Given the description of an element on the screen output the (x, y) to click on. 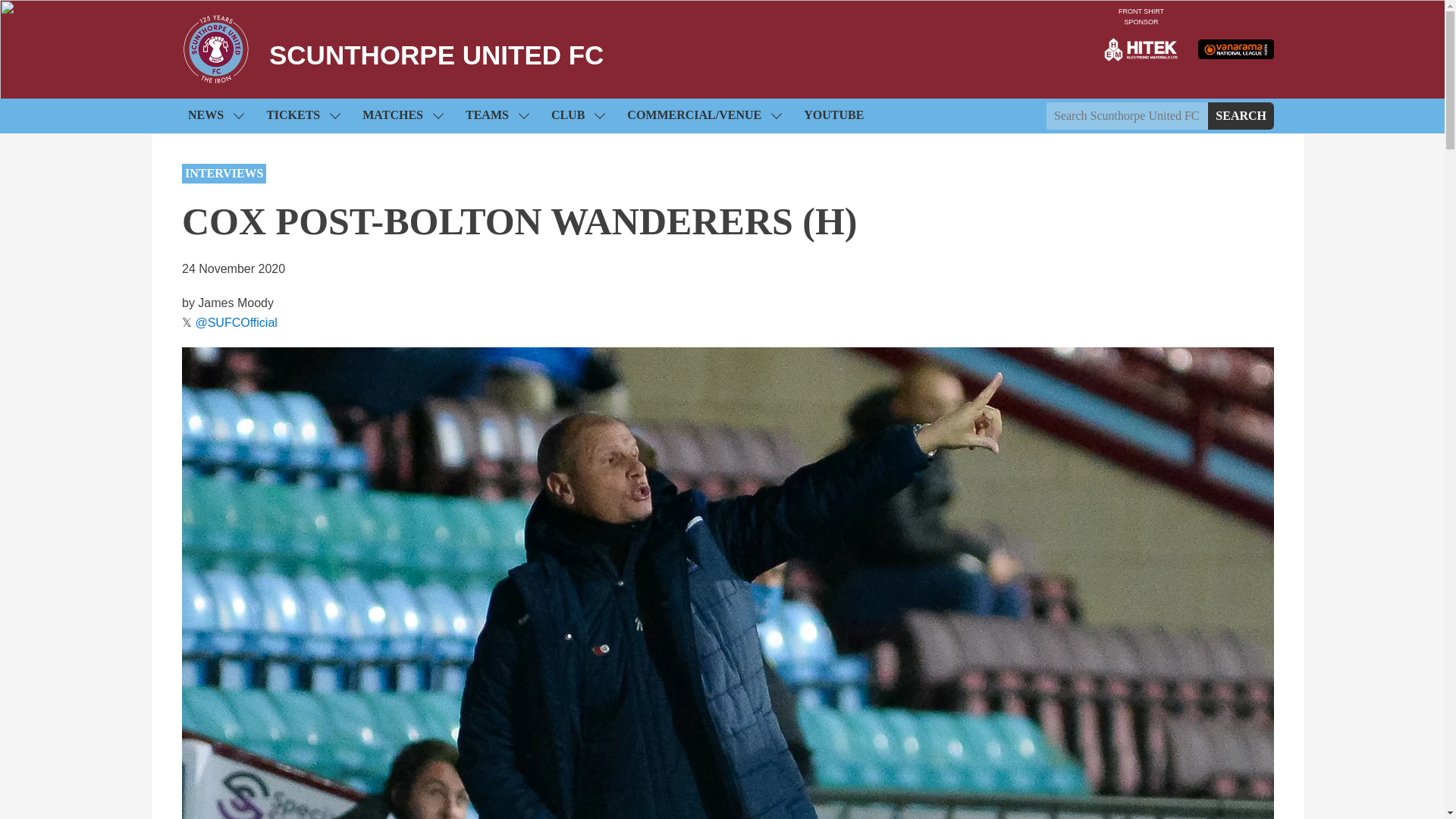
CLUB (577, 115)
NEWS (215, 115)
Scunthorpe United FC badge - Link to home (216, 49)
FRONT SHIRT SPONSOR (1141, 48)
MATCHES (402, 115)
Link to News (215, 115)
TICKETS (302, 115)
Link to Tickets (302, 115)
TEAMS (497, 115)
